Given the description of an element on the screen output the (x, y) to click on. 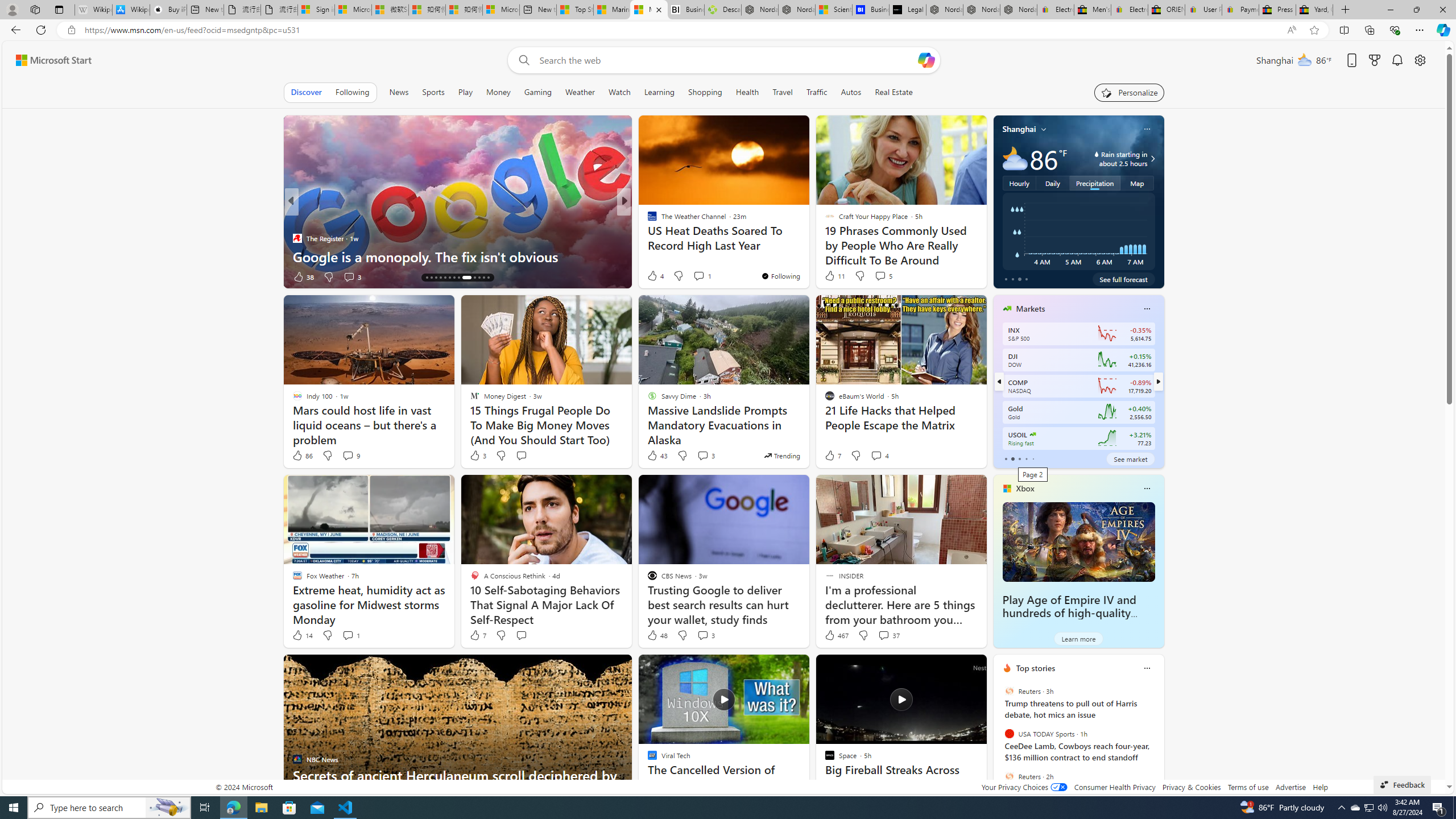
43 Like (657, 455)
Daily (1052, 183)
View comments 53 Comment (6, 276)
